Given the description of an element on the screen output the (x, y) to click on. 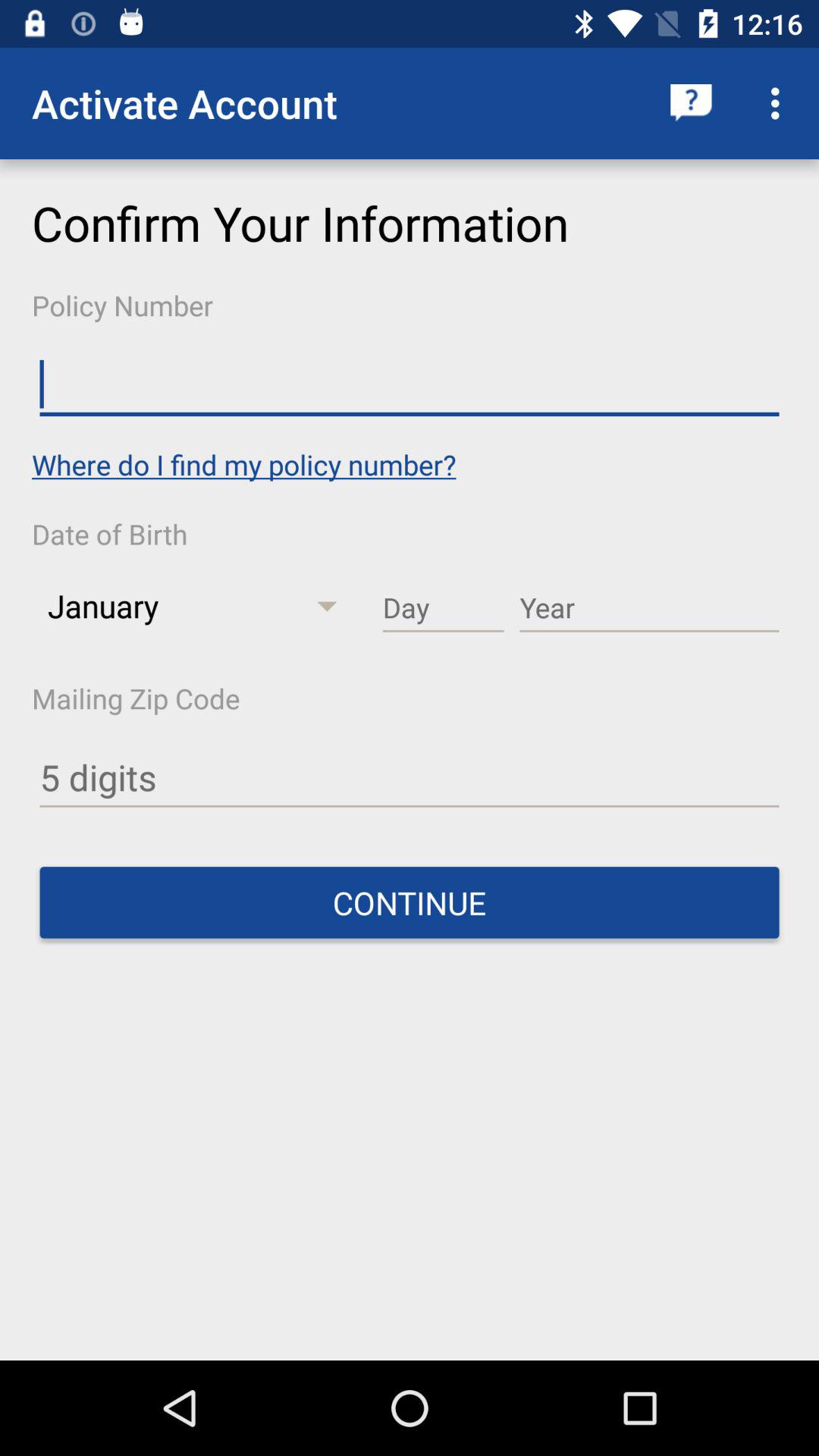
enter day (442, 607)
